Given the description of an element on the screen output the (x, y) to click on. 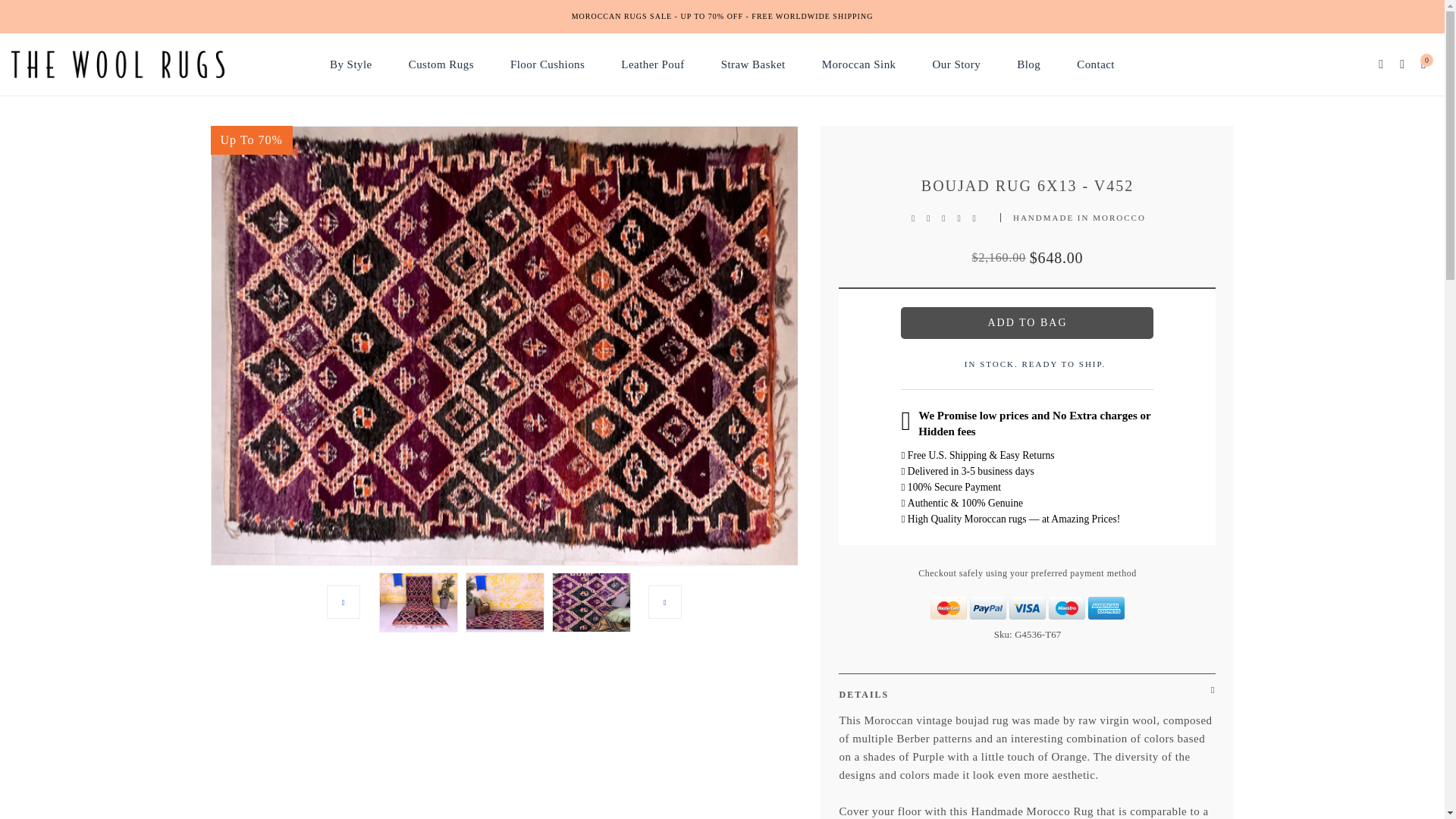
By Style (350, 64)
